Given the description of an element on the screen output the (x, y) to click on. 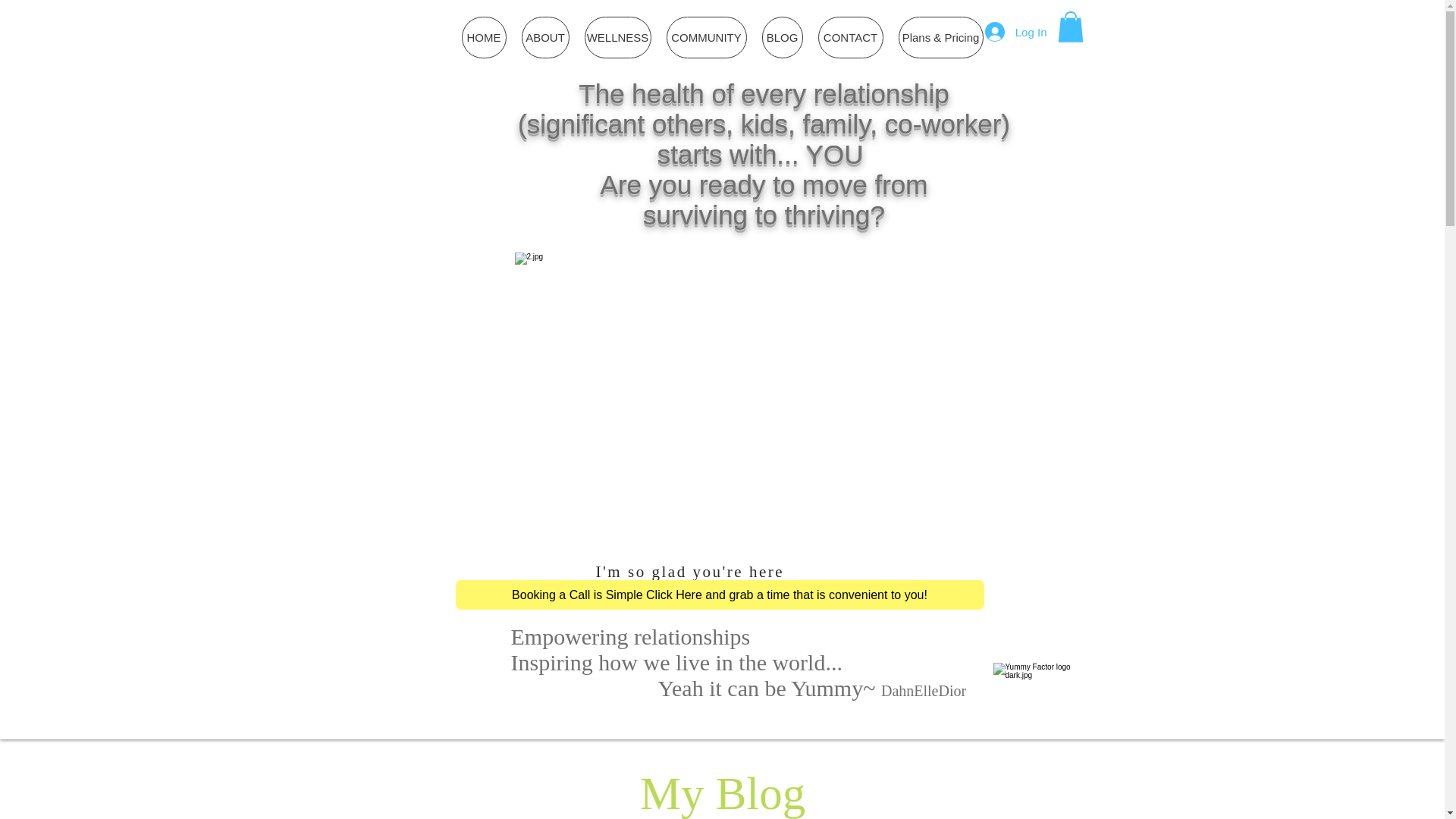
WELLNESS (616, 37)
COMMUNITY (705, 37)
ABOUT (545, 37)
Log In (1016, 31)
CONTACT (849, 37)
HOME (483, 37)
BLOG (781, 37)
